Given the description of an element on the screen output the (x, y) to click on. 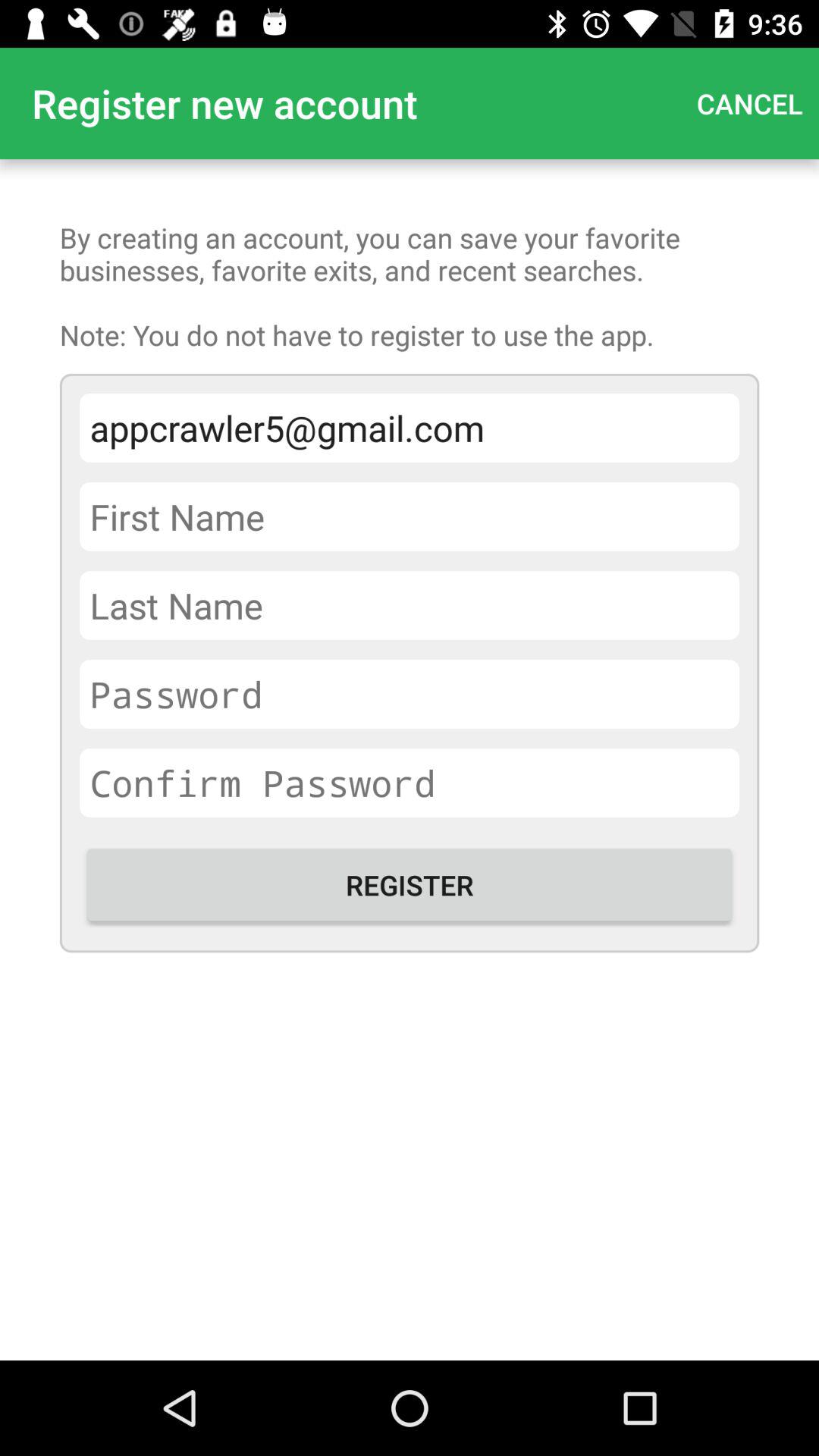
launch the item at the top right corner (749, 103)
